Given the description of an element on the screen output the (x, y) to click on. 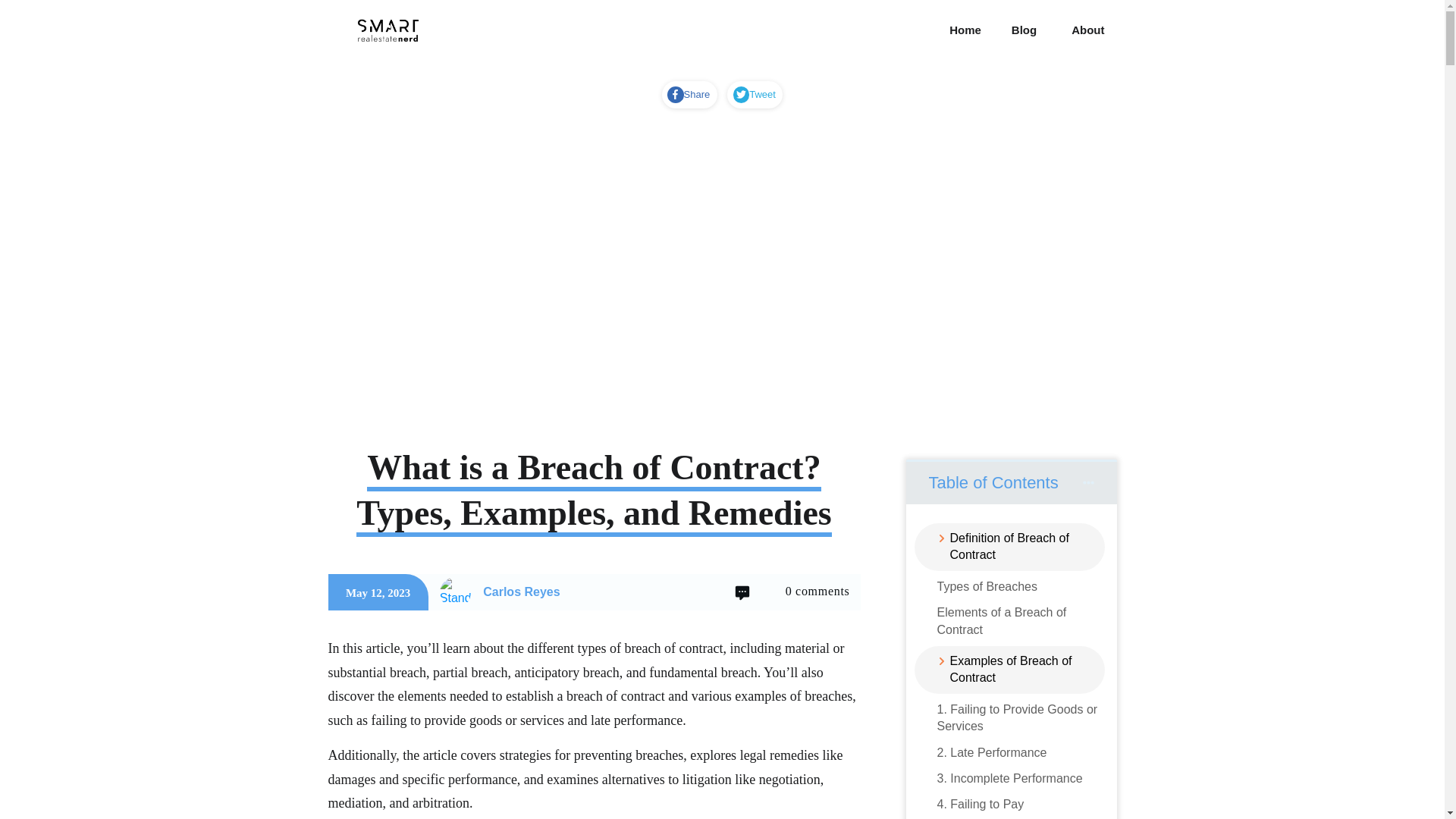
Standard Post (454, 592)
Blog (1023, 29)
Types of Breaches (987, 586)
4. Failing to Pay (981, 804)
About (1087, 29)
3. Incomplete Performance (1010, 778)
What is a Breach of Contract? Types, Examples, and Remedies (593, 492)
Definition of Breach of Contract (1016, 546)
1. Failing to Provide Goods or Services (1021, 718)
What is a Breach of Contract? Types, Examples, and Remedies (593, 492)
